Given the description of an element on the screen output the (x, y) to click on. 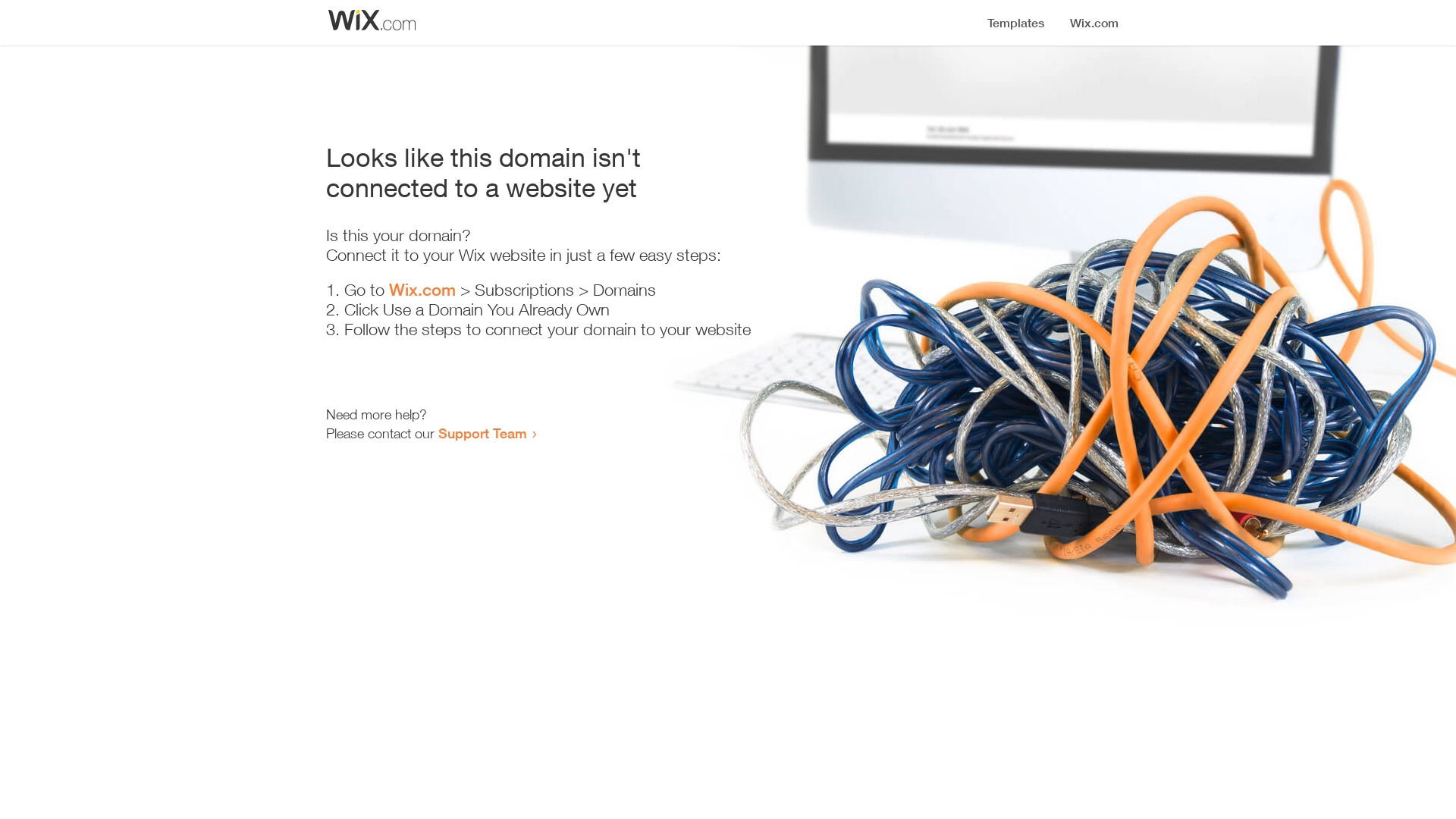
Support Team Element type: text (482, 432)
Wix.com Element type: text (422, 289)
